Given the description of an element on the screen output the (x, y) to click on. 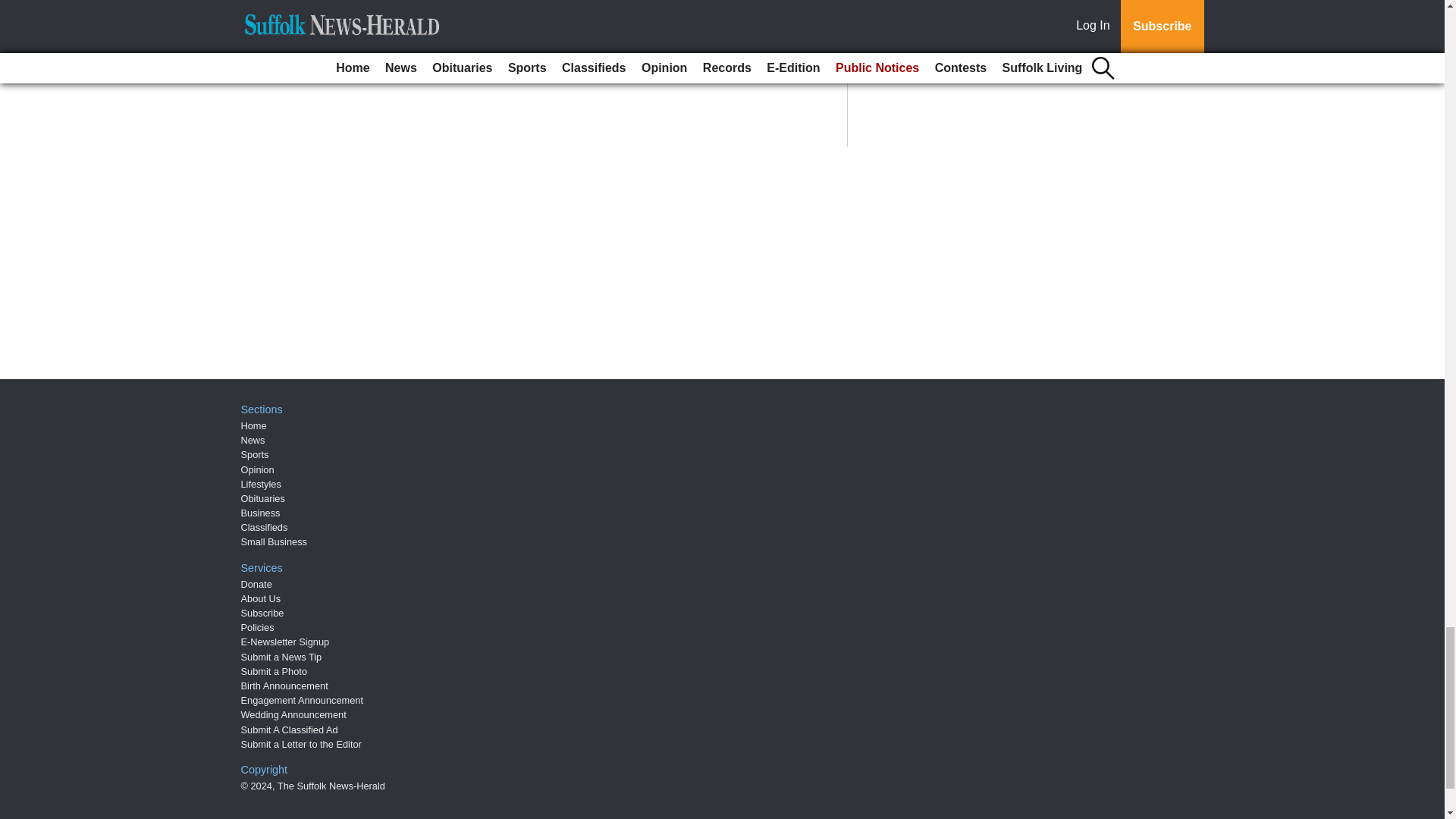
Home (253, 425)
News (252, 439)
Sports (255, 454)
Opinion (258, 469)
